Given the description of an element on the screen output the (x, y) to click on. 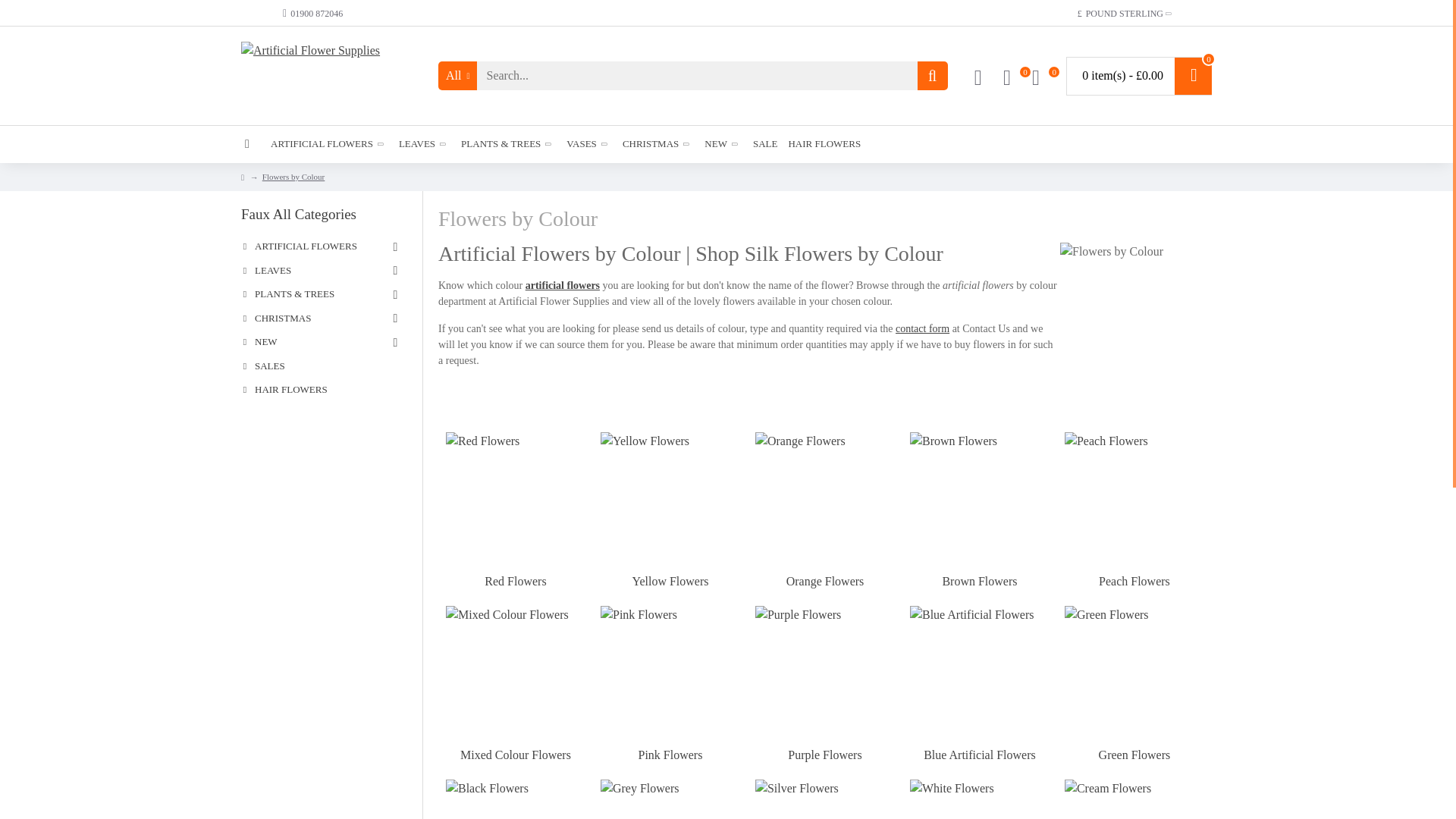
Artificial Flower Supplies  (320, 75)
Flowers by Colour (1135, 317)
01900 872046 (312, 13)
